Given the description of an element on the screen output the (x, y) to click on. 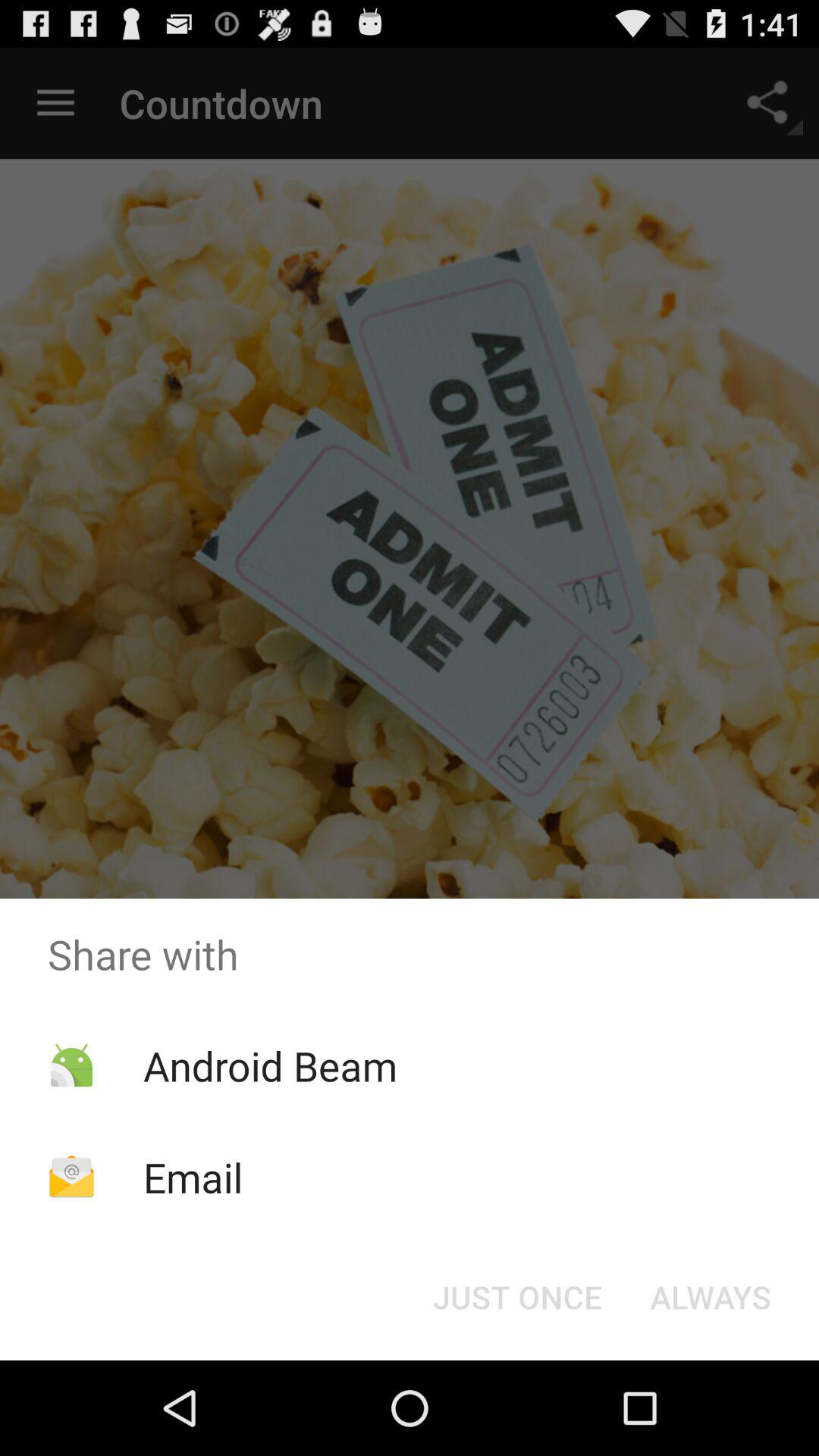
choose icon below the share with app (517, 1296)
